Given the description of an element on the screen output the (x, y) to click on. 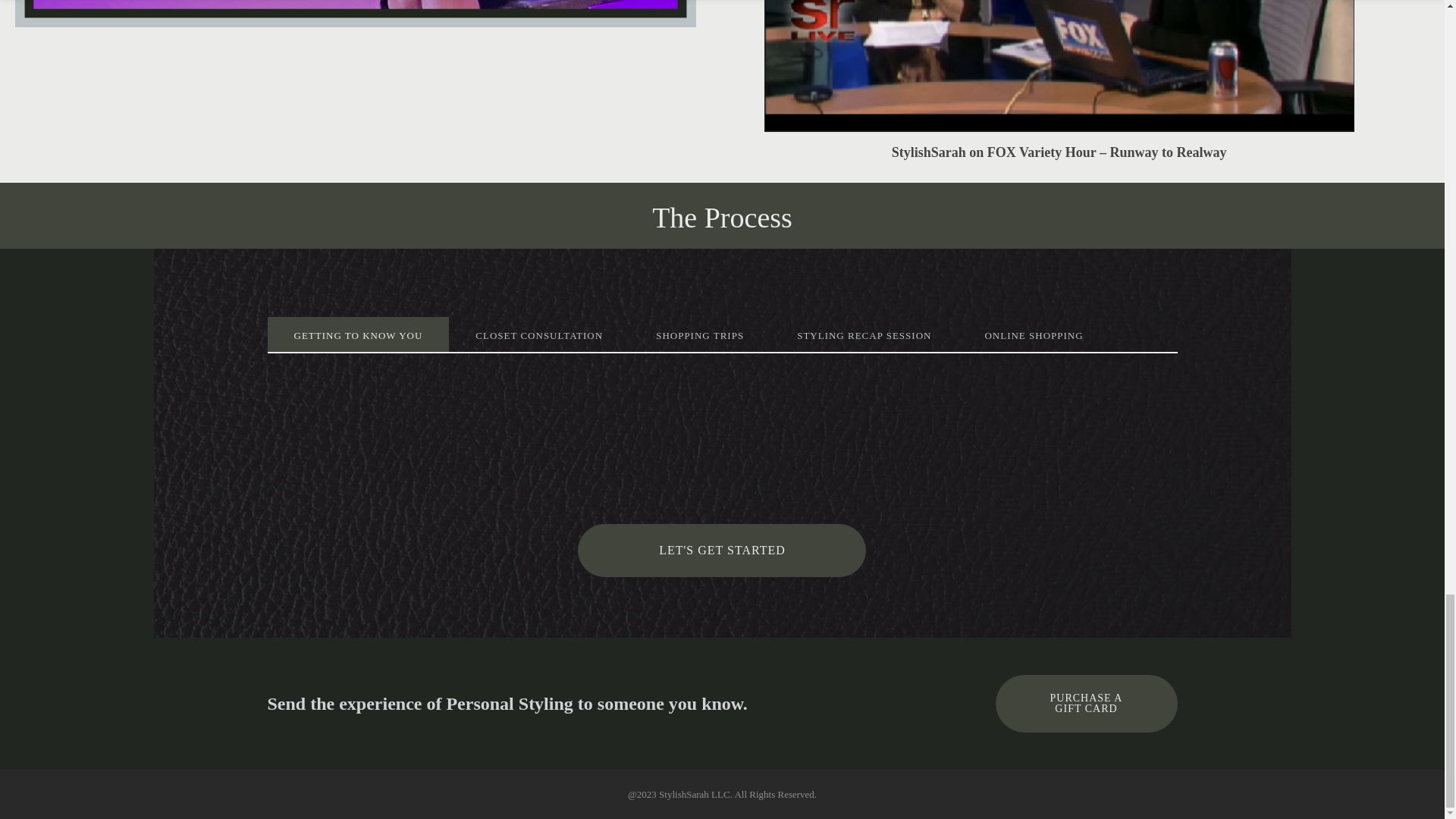
SHOPPING TRIPS (699, 334)
LET'S GET STARTED (722, 550)
ONLINE SHOPPING (1033, 334)
CLOSET CONSULTATION (538, 334)
GETTING TO KNOW YOU (357, 334)
STYLING RECAP SESSION (864, 334)
PURCHASE A GIFT CARD (1085, 703)
